Given the description of an element on the screen output the (x, y) to click on. 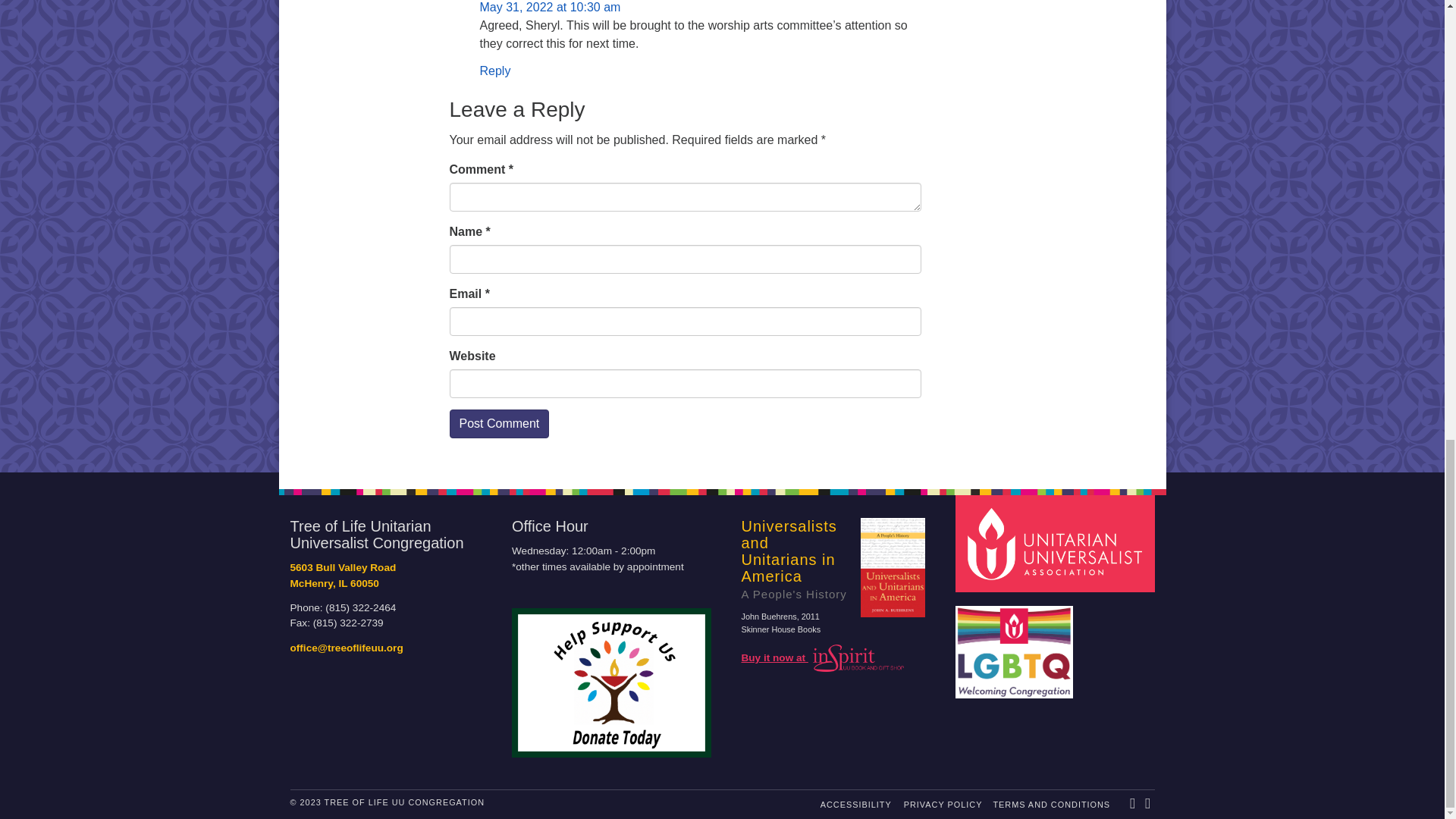
Post Comment (498, 423)
